Given the description of an element on the screen output the (x, y) to click on. 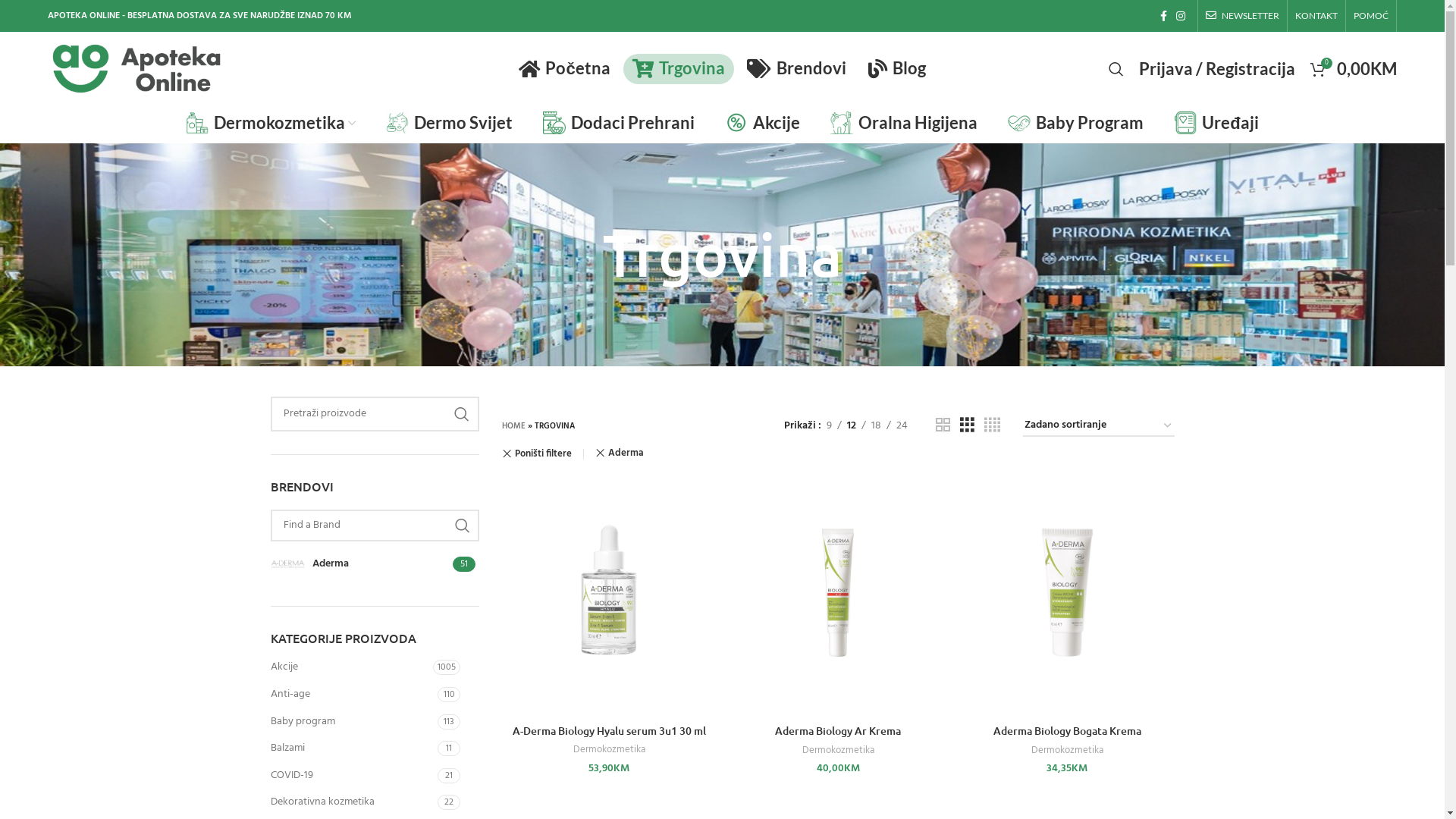
Dekorativna kozmetika Element type: text (353, 801)
Aderma Element type: text (358, 564)
Aderma Element type: text (619, 453)
Prijava / Registracija Element type: text (1216, 68)
Akcije Element type: text (351, 666)
Dermo Svijet Element type: text (448, 122)
Baby program Element type: text (353, 721)
12 Element type: text (851, 425)
18 Element type: text (876, 425)
KONTAKT Element type: text (1316, 15)
Search Element type: hover (1116, 68)
0
0,00KM Element type: text (1353, 68)
Oralna Higijena Element type: text (903, 122)
Dermokozmetika Element type: text (609, 749)
Akcije Element type: text (762, 122)
24 Element type: text (902, 425)
SEARCH Element type: text (461, 413)
Balzami Element type: text (353, 748)
Dermokozmetika Element type: text (1067, 750)
Brendovi Element type: text (796, 68)
Anti-age Element type: text (353, 694)
Baby Program Element type: text (1075, 122)
NEWSLETTER Element type: text (1242, 15)
HOME Element type: text (513, 426)
Dermokozmetika Element type: text (270, 122)
Dodaci Prehrani Element type: text (618, 122)
Aderma Biology Bogata Krema Element type: text (1067, 730)
Trgovina Element type: text (678, 68)
COVID-19 Element type: text (353, 775)
A-Derma Biology Hyalu serum 3u1 30 ml Element type: text (609, 730)
Dermokozmetika Element type: text (838, 750)
Blog Element type: text (897, 68)
9 Element type: text (829, 425)
Aderma Biology Ar Krema Element type: text (837, 730)
